Given the description of an element on the screen output the (x, y) to click on. 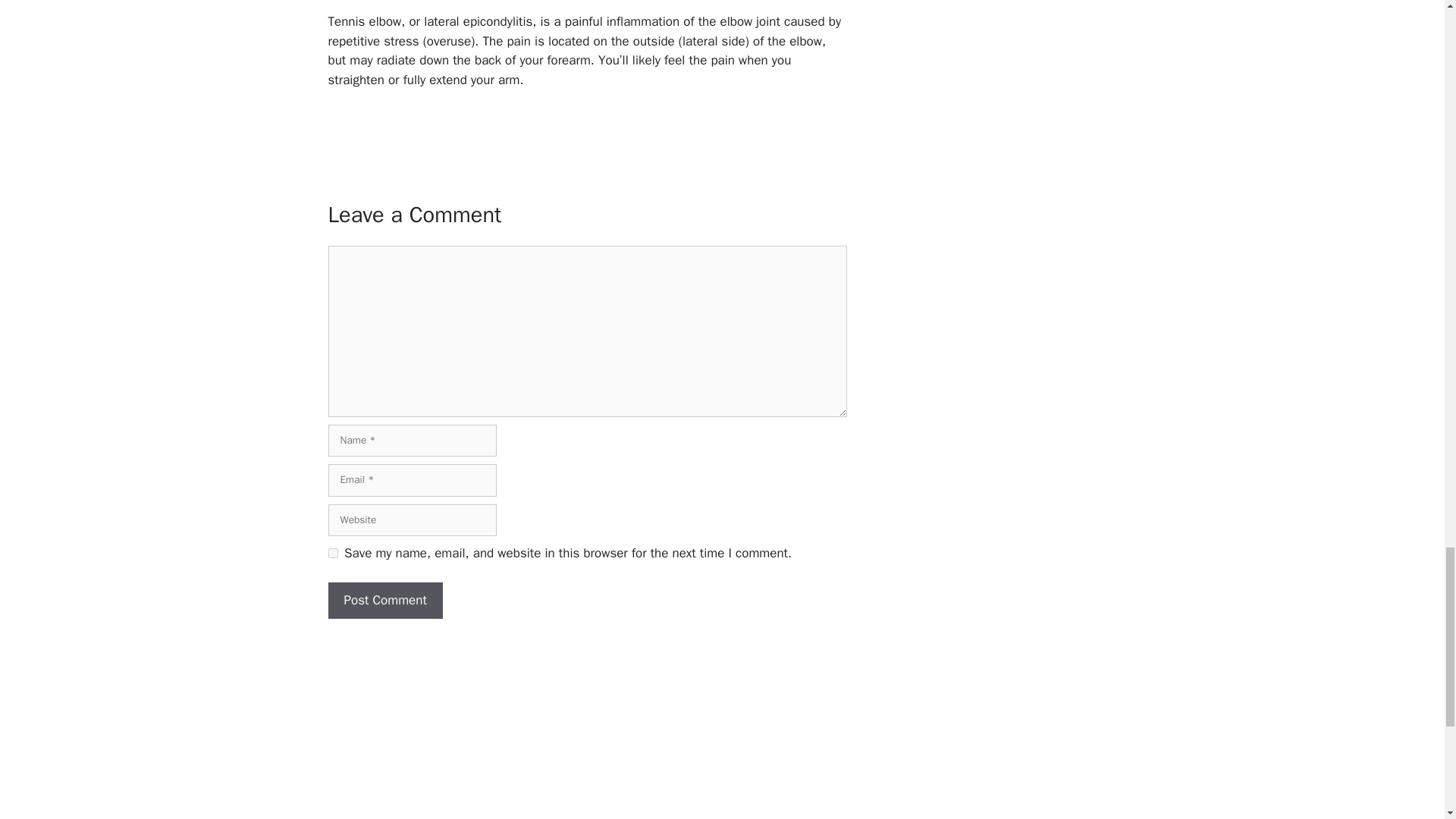
Advertisement (586, 726)
Post Comment (384, 600)
Post Comment (384, 600)
yes (332, 552)
